Given the description of an element on the screen output the (x, y) to click on. 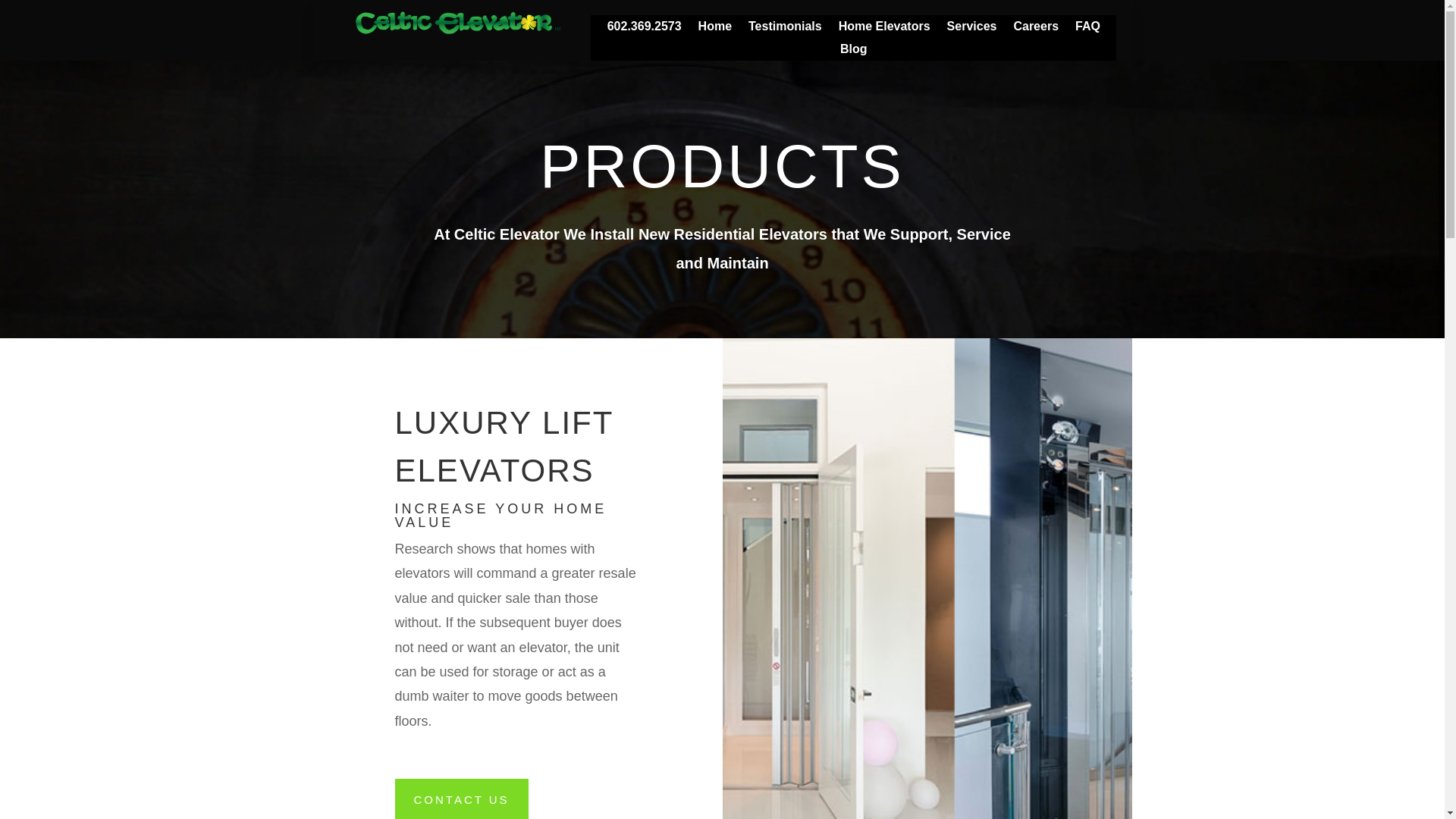
Home (715, 29)
Testimonials (785, 29)
FAQ (1087, 29)
Blog (853, 52)
Services (972, 29)
Home Elevators (884, 29)
602.369.2573 (644, 29)
CONTACT US (460, 798)
Careers (1035, 29)
